Given the description of an element on the screen output the (x, y) to click on. 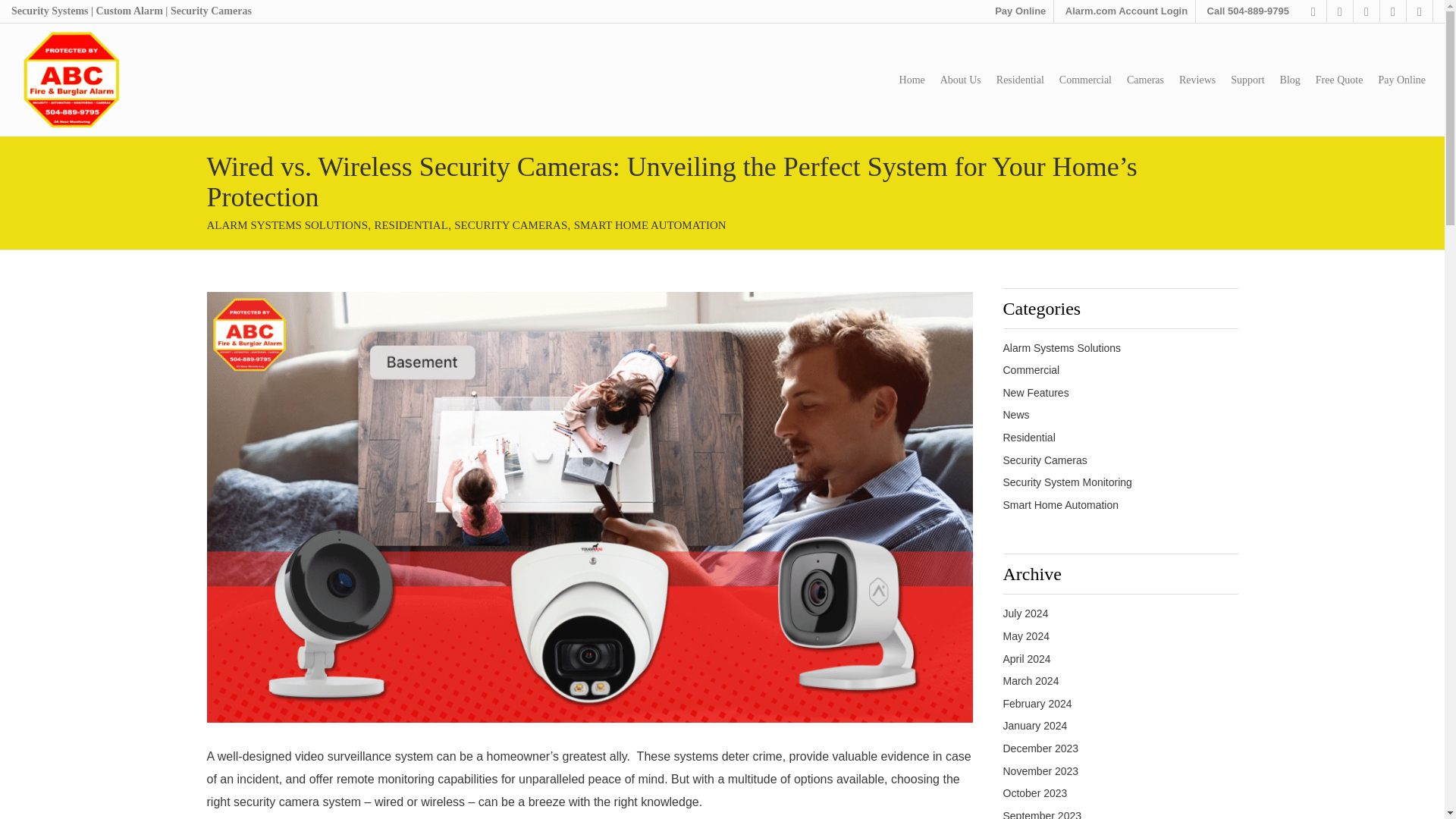
Home (911, 79)
About Us (960, 79)
Pay Online (1024, 11)
Call 504-889-9795 (1252, 11)
Residential (1019, 79)
Alarm.com Account Login (1130, 11)
